Given the description of an element on the screen output the (x, y) to click on. 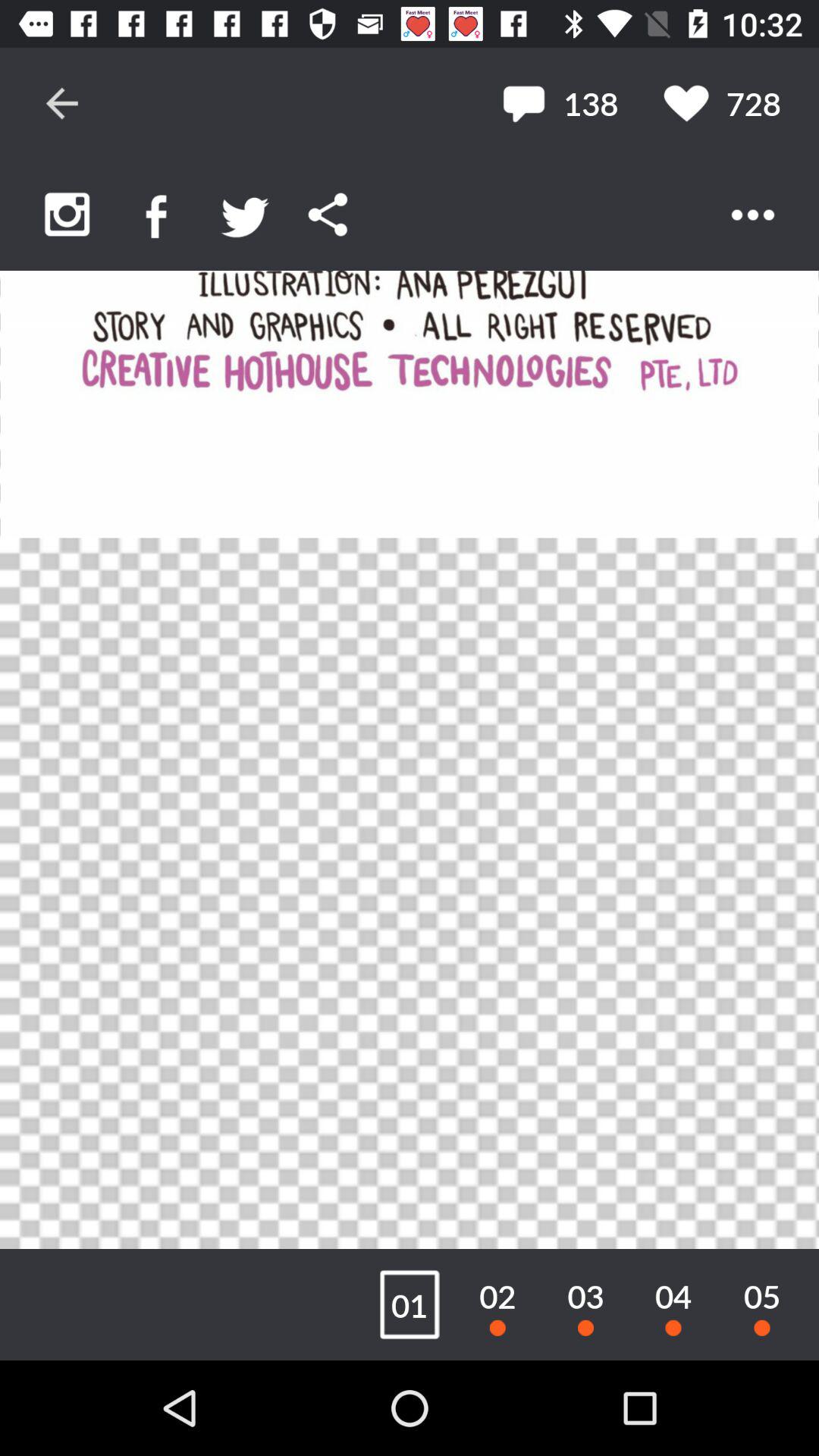
more options (752, 214)
